Given the description of an element on the screen output the (x, y) to click on. 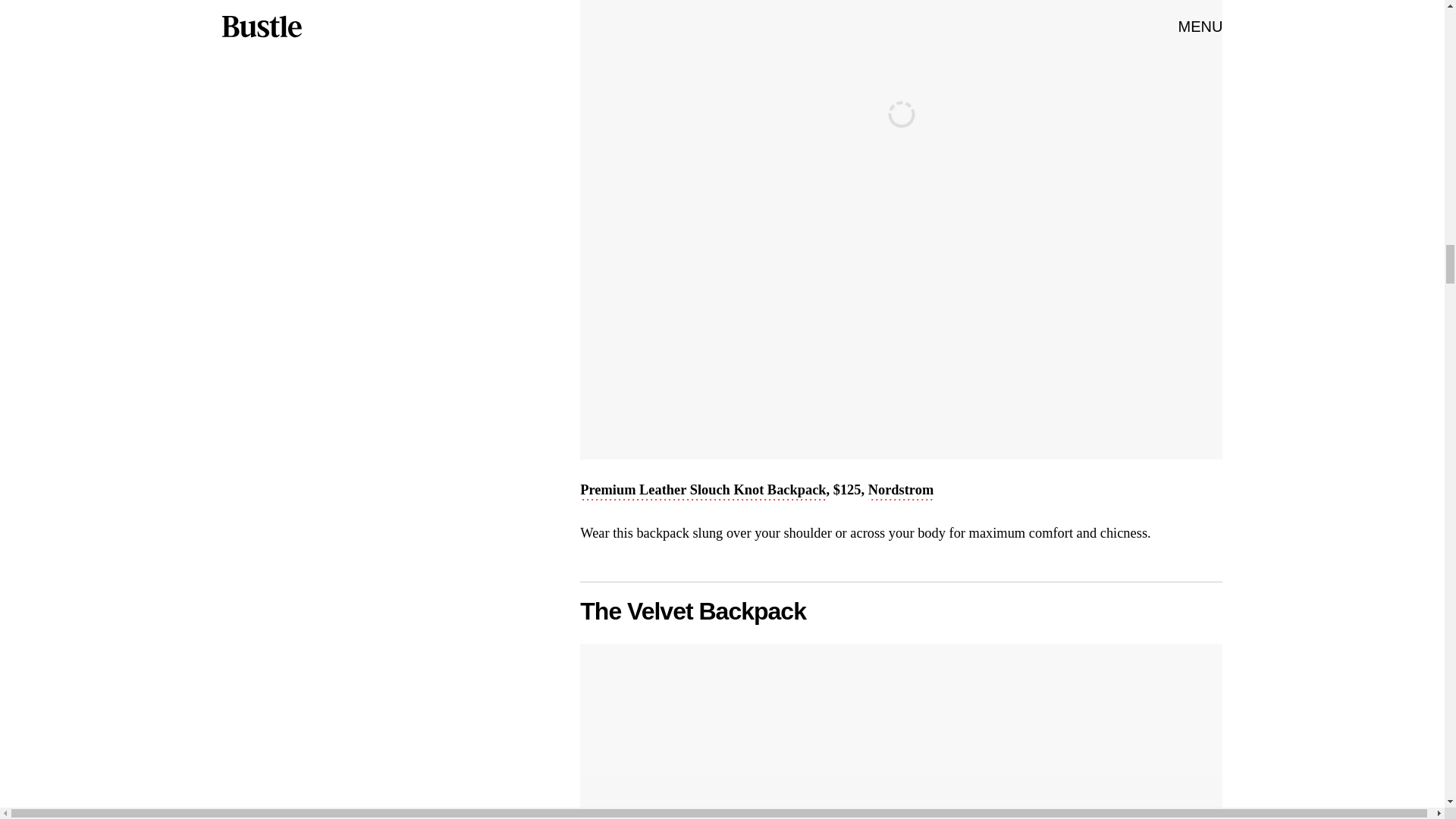
Premium Leather Slouch Knot Backpack (702, 491)
Nordstrom (900, 491)
